Given the description of an element on the screen output the (x, y) to click on. 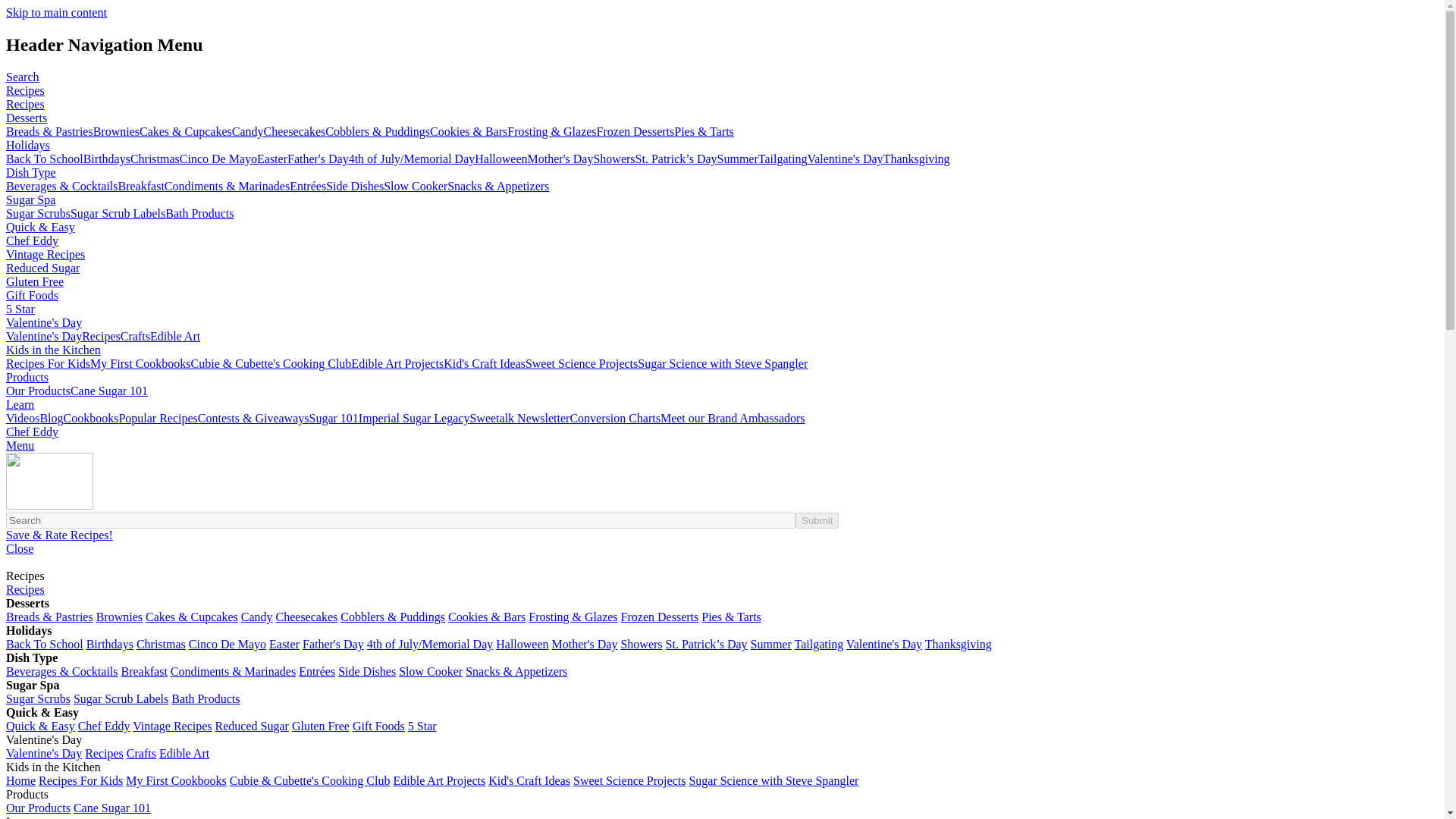
Skip to main content (55, 11)
Candy (247, 131)
Tailgating (783, 158)
Birthdays (106, 158)
Slow Cooker (415, 185)
Mother's Day (560, 158)
Frozen Desserts (635, 131)
Breakfast (140, 185)
Summer (737, 158)
Back To School (43, 158)
Valentine's Day (844, 158)
Father's Day (317, 158)
Thanksgiving (916, 158)
Submit (816, 520)
Submit (816, 520)
